Given the description of an element on the screen output the (x, y) to click on. 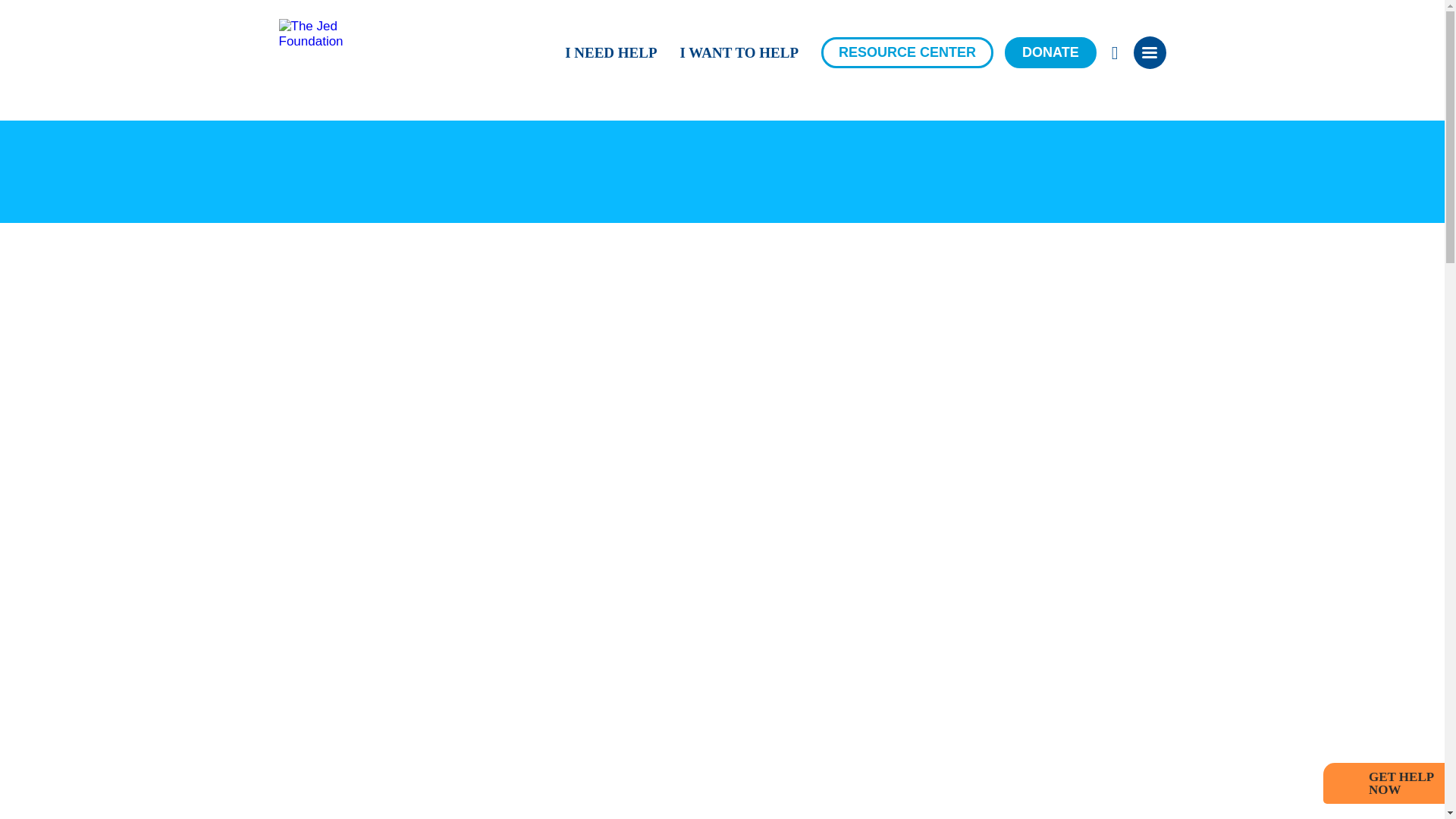
I NEED HELP (610, 60)
I WANT TO HELP (738, 60)
